Given the description of an element on the screen output the (x, y) to click on. 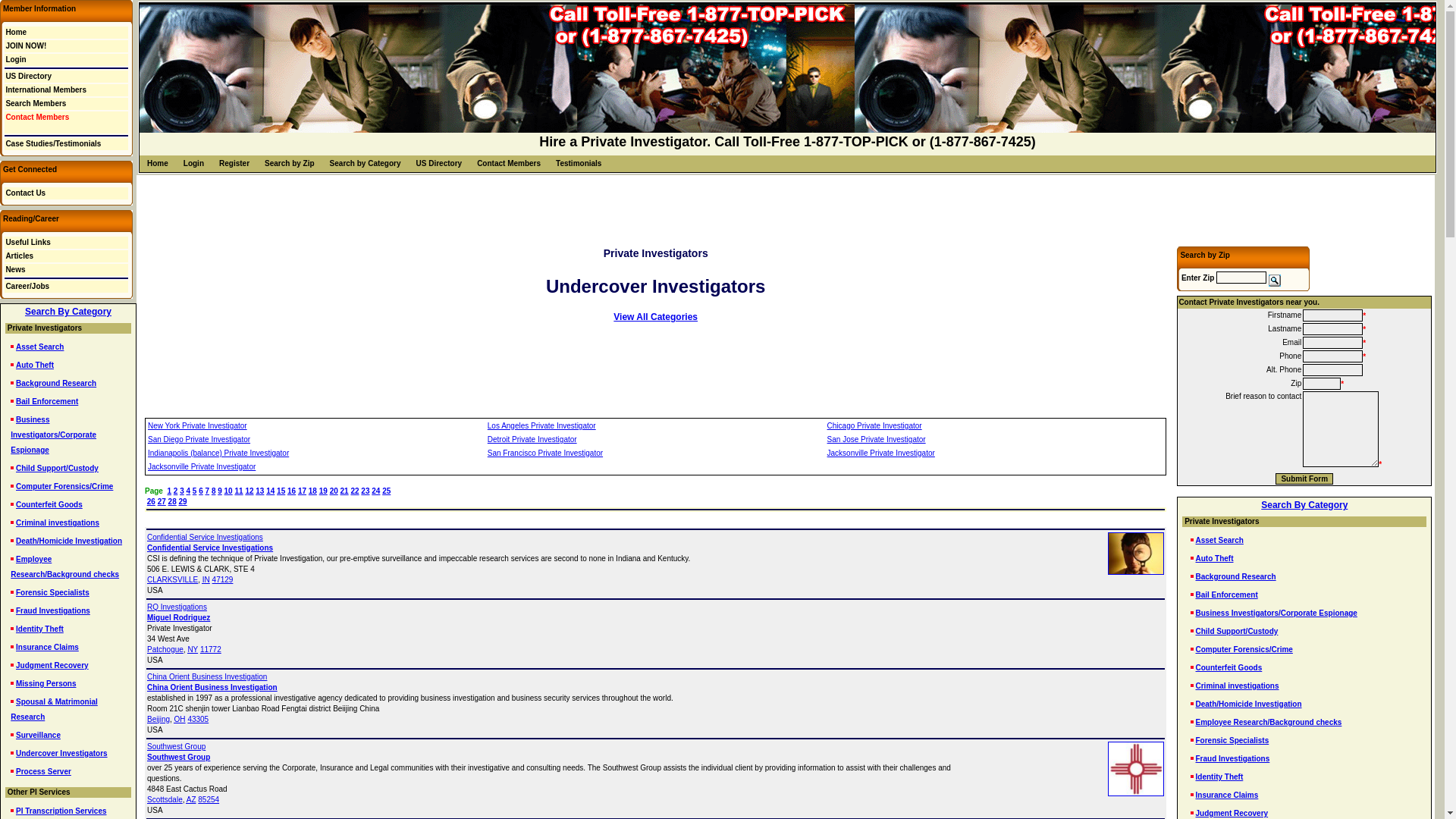
Process Server (43, 771)
Auto Theft Private Investigator (34, 365)
Bail Enforcement (47, 401)
Identity Theft (40, 628)
Home (157, 162)
Surveillance Private Investigator (38, 735)
Identity Theft Private Investigator (40, 628)
Surveillance (38, 735)
Forensic Specialists Private Investigator (52, 592)
Background Research Private Investigator (56, 383)
Counterfeit Goods (49, 504)
US Directory (27, 76)
PI Transcription Services (61, 810)
Fraud Investigations Private Investigator (53, 610)
Undercover Investigators (61, 753)
